Given the description of an element on the screen output the (x, y) to click on. 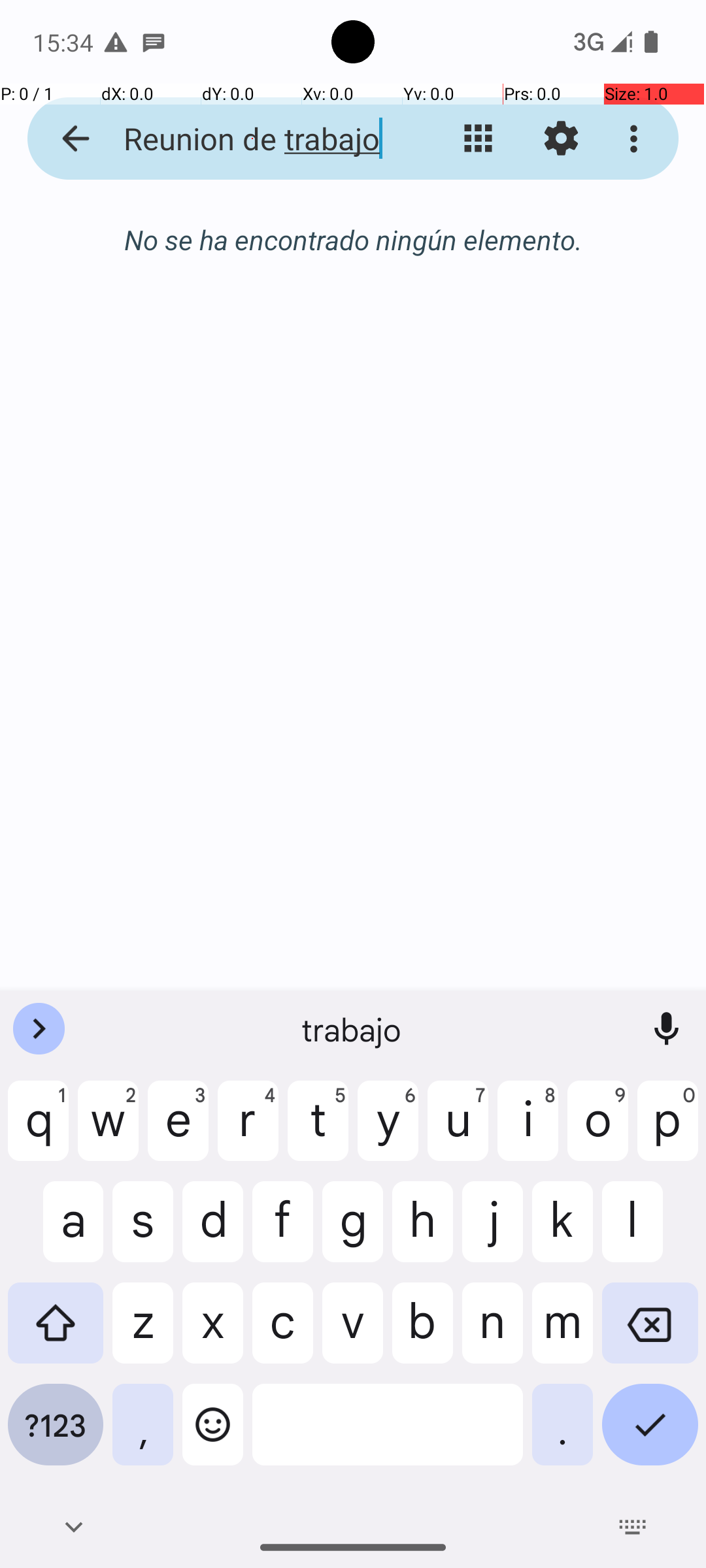
Reunion de trabajo Element type: android.widget.EditText (252, 138)
No se ha encontrado ningún elemento. Element type: android.widget.TextView (353, 239)
trabajo Element type: android.widget.FrameLayout (352, 1028)
